Given the description of an element on the screen output the (x, y) to click on. 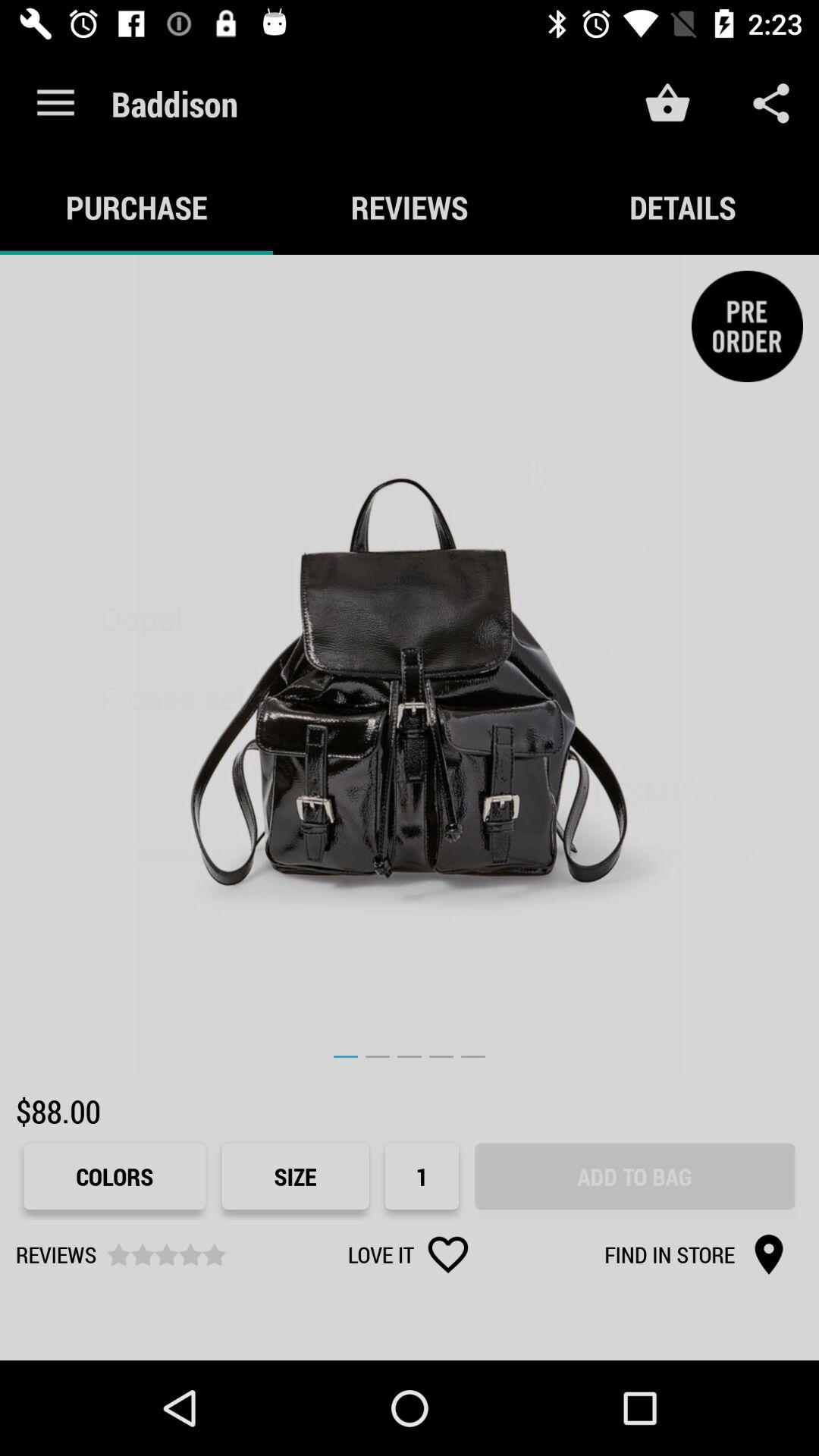
see the image (409, 663)
